Given the description of an element on the screen output the (x, y) to click on. 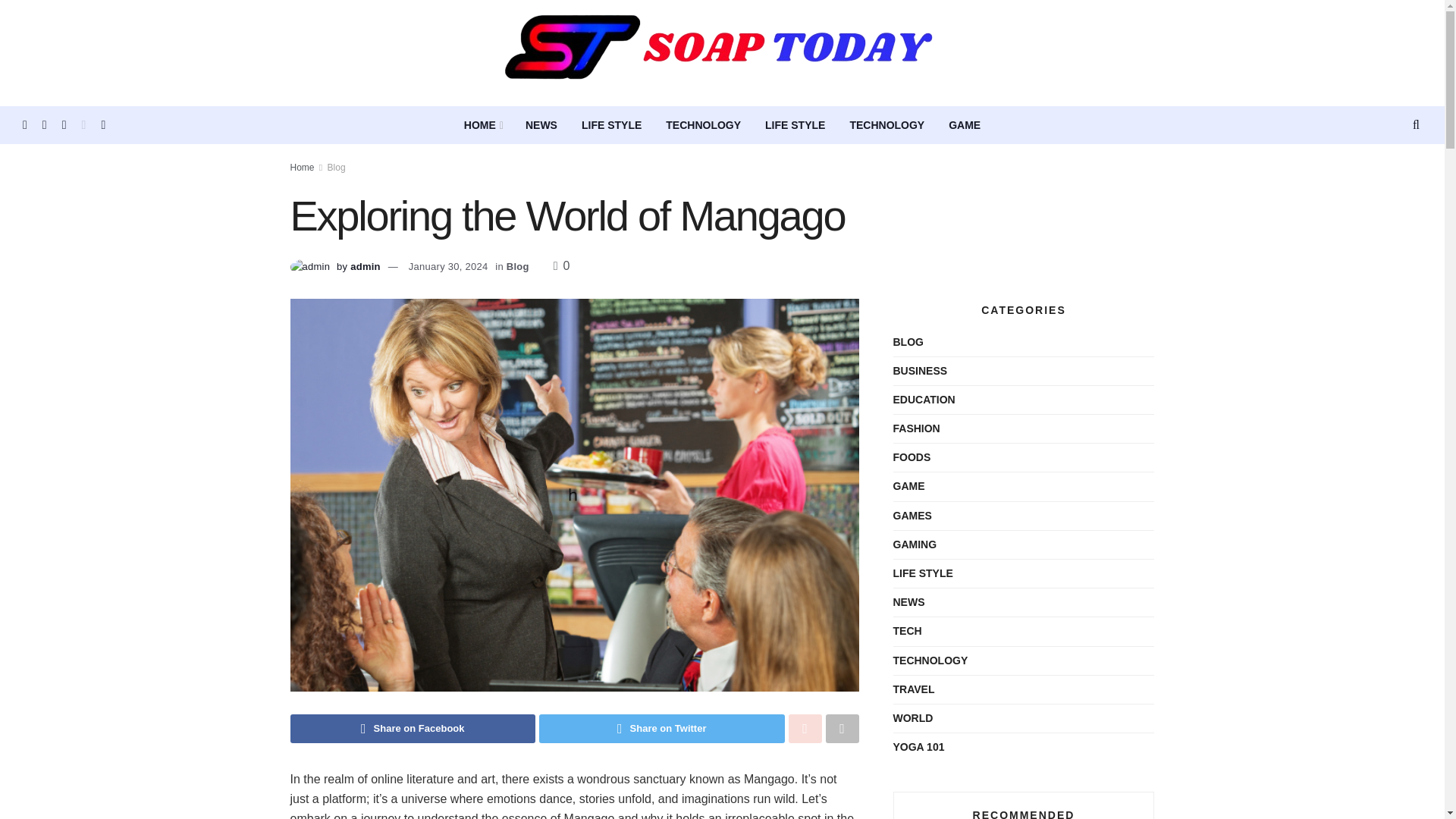
NEWS (541, 125)
Home (301, 167)
admin (365, 266)
Blog (336, 167)
HOME (482, 125)
January 30, 2024 (448, 266)
LIFE STYLE (794, 125)
TECHNOLOGY (886, 125)
TECHNOLOGY (702, 125)
Blog (517, 266)
